Given the description of an element on the screen output the (x, y) to click on. 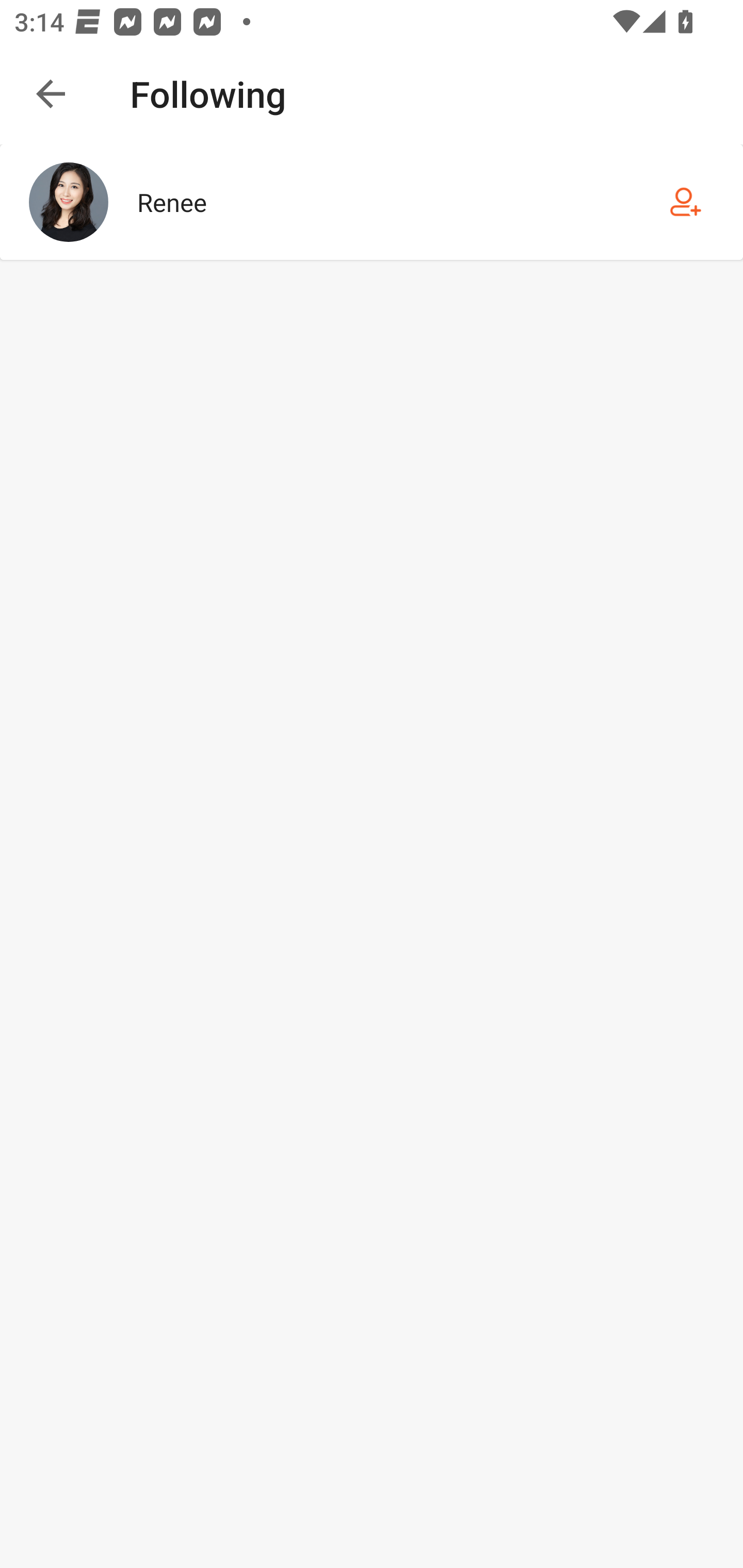
Navigate up (50, 93)
Renee (371, 202)
